Given the description of an element on the screen output the (x, y) to click on. 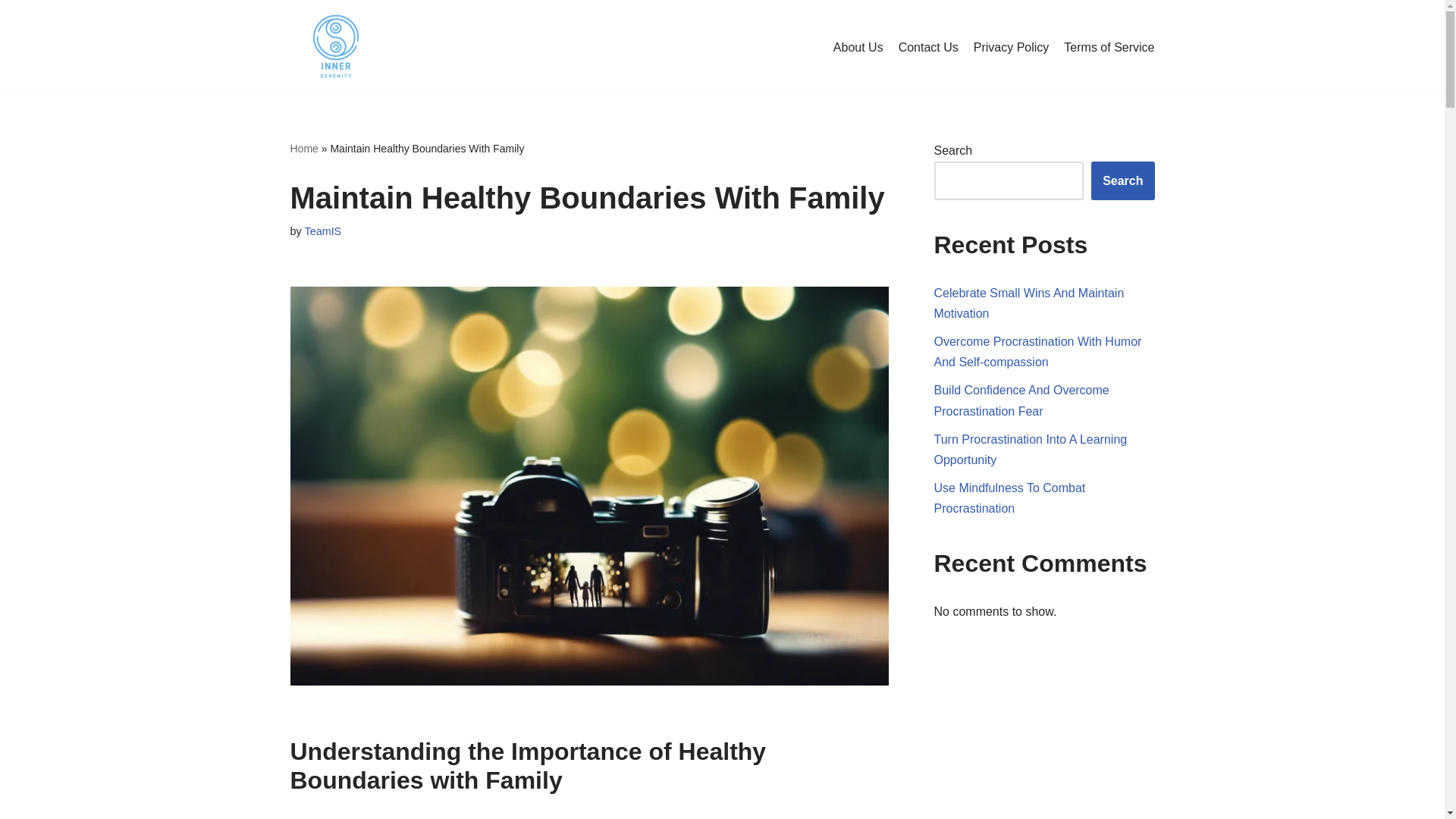
Overcome Procrastination With Humor And Self-compassion (1037, 351)
Posts by TeamIS (322, 231)
Celebrate Small Wins And Maintain Motivation (1029, 303)
Skip to content (11, 31)
Contact Us (928, 47)
About Us (857, 47)
Terms of Service (1109, 47)
Build Confidence And Overcome Procrastination Fear (1021, 400)
Home (303, 148)
Turn Procrastination Into A Learning Opportunity (1030, 449)
